Given the description of an element on the screen output the (x, y) to click on. 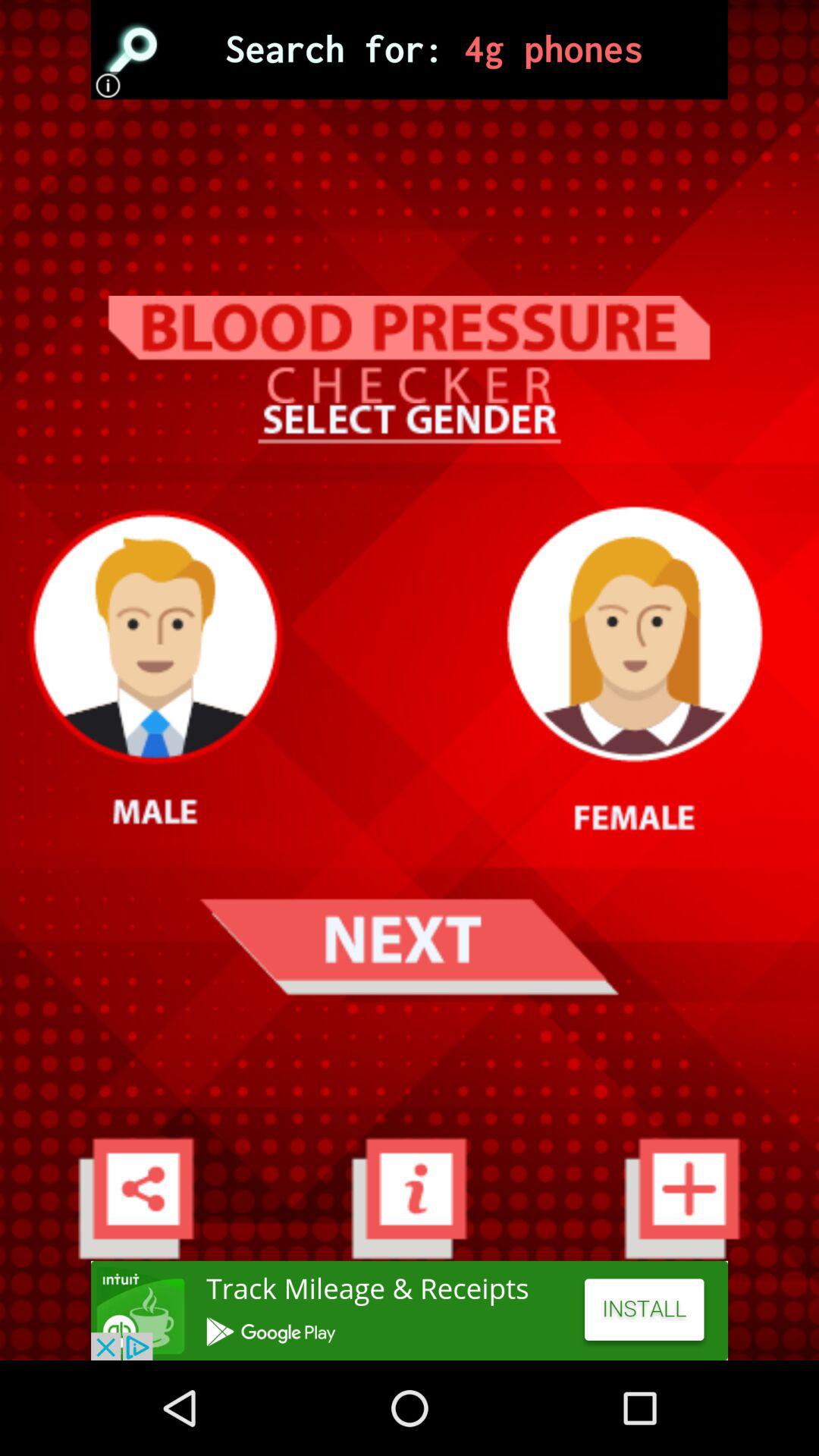
choose the selection (409, 49)
